Given the description of an element on the screen output the (x, y) to click on. 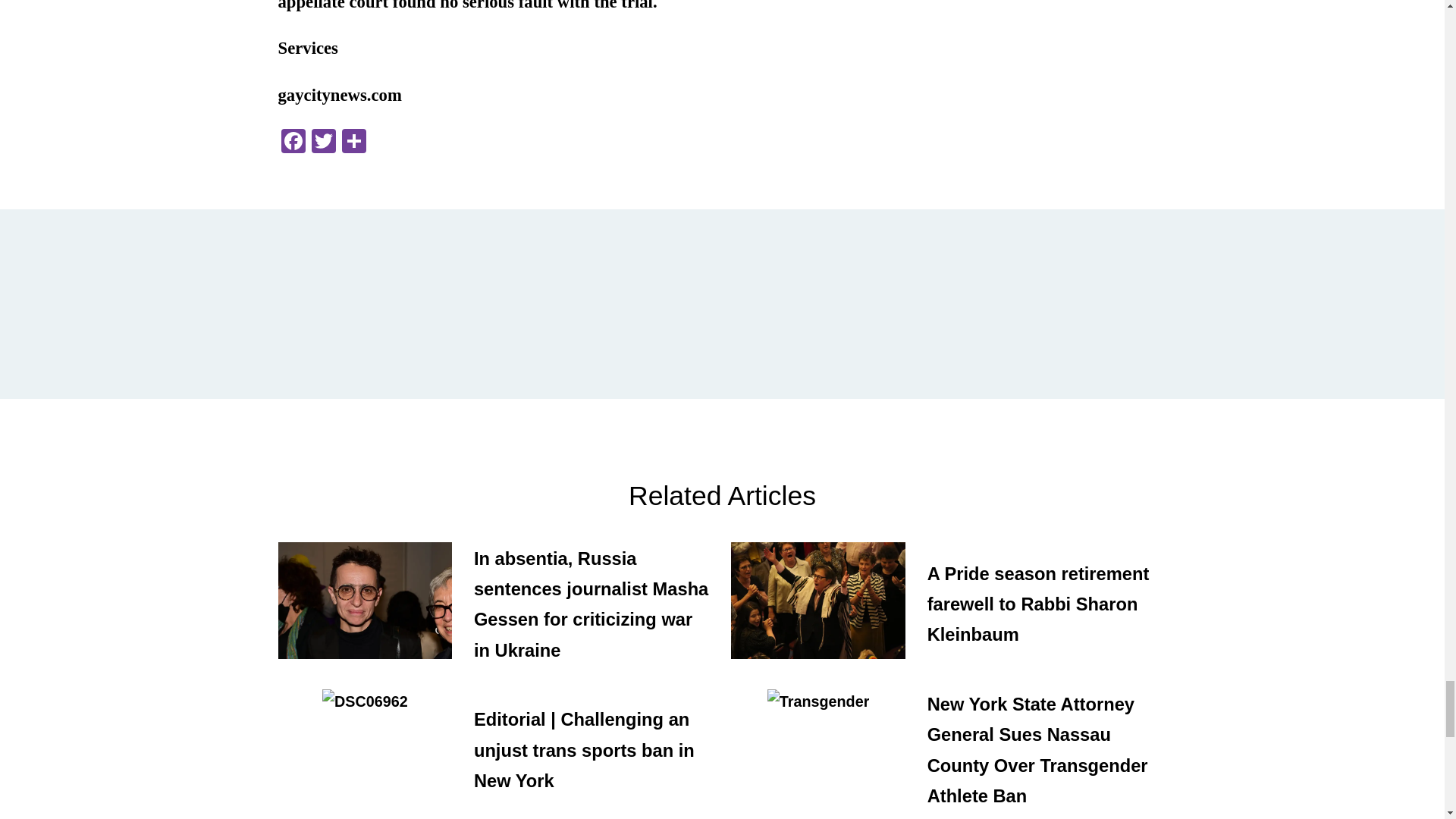
Facebook (292, 142)
